Given the description of an element on the screen output the (x, y) to click on. 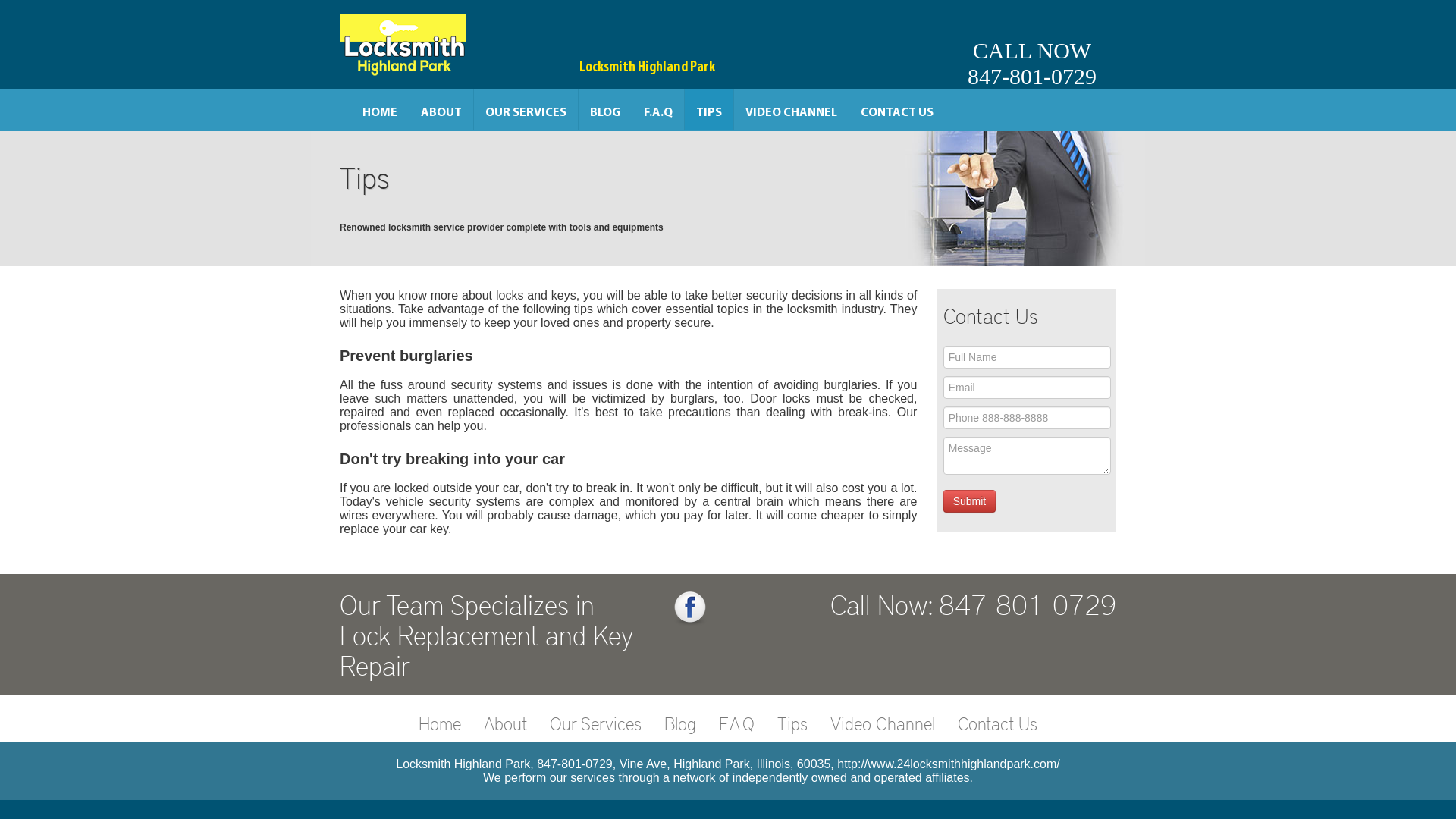
OUR SERVICES Element type: text (525, 109)
CONTACT US Element type: text (896, 109)
Facebook Element type: hover (689, 607)
Home Element type: text (439, 722)
Contact Us Element type: text (997, 722)
F.A.Q Element type: text (658, 109)
Video Channel Element type: text (882, 722)
Tips Element type: text (792, 722)
TIPS Element type: text (708, 109)
Our Services Element type: text (595, 722)
BLOG Element type: text (604, 109)
F.A.Q Element type: text (736, 722)
VIDEO CHANNEL Element type: text (791, 109)
About Element type: text (505, 722)
Submit Element type: text (969, 500)
ABOUT Element type: text (441, 109)
HOME Element type: text (379, 109)
Blog Element type: text (680, 722)
CALL NOW
847-801-0729 Element type: text (1031, 44)
